Given the description of an element on the screen output the (x, y) to click on. 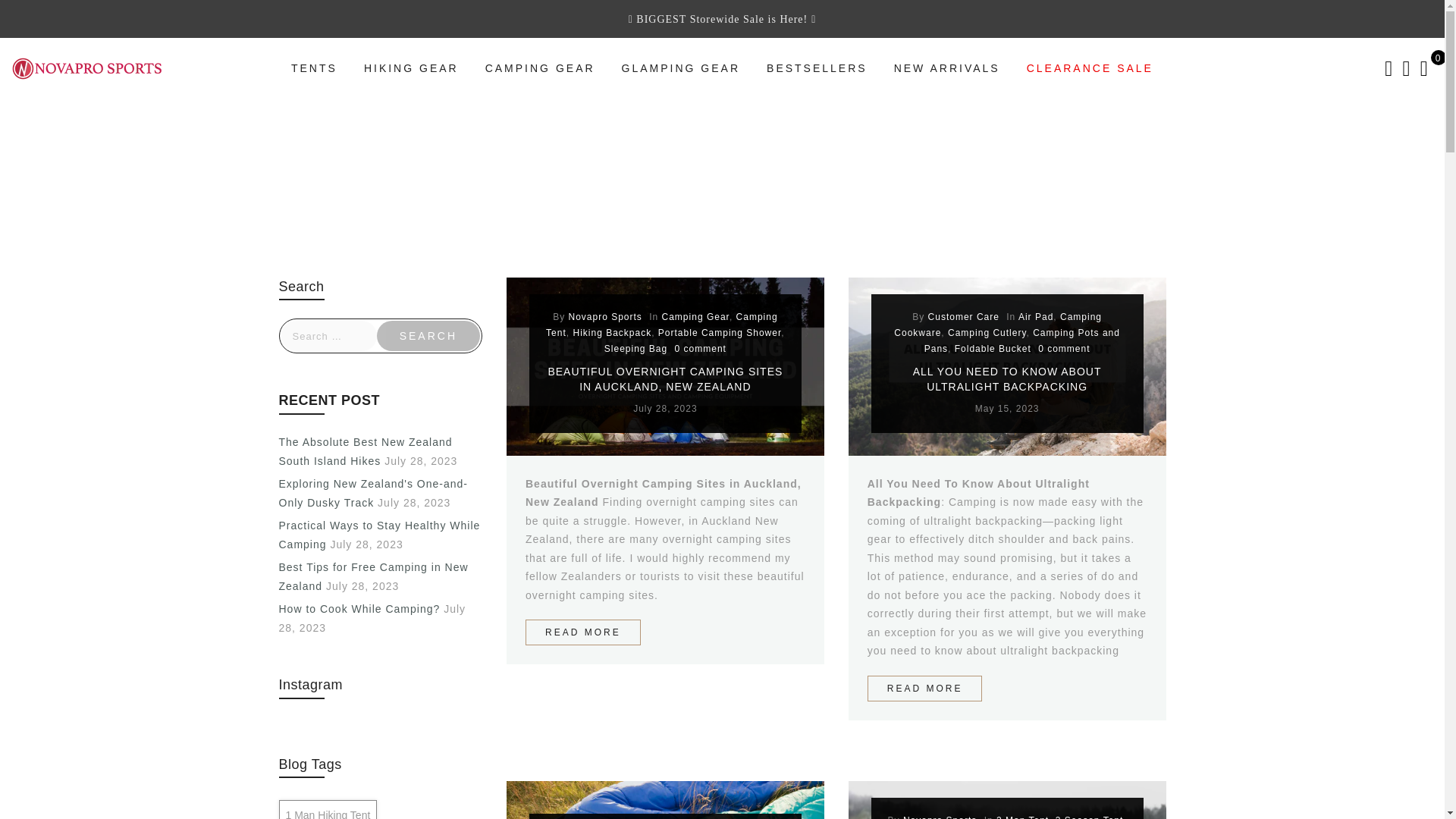
Search (428, 336)
Search (428, 336)
Home (608, 186)
